Given the description of an element on the screen output the (x, y) to click on. 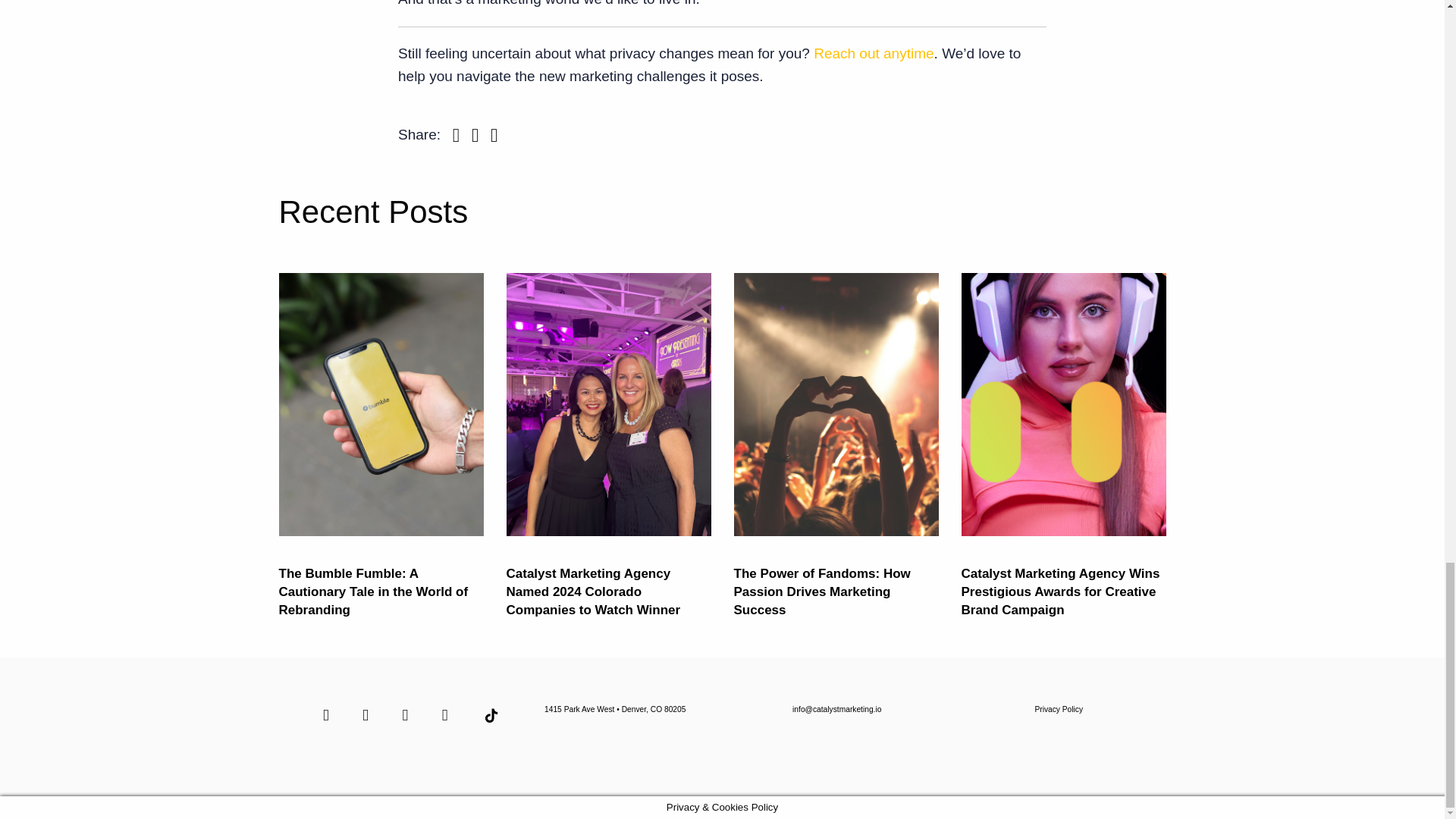
Reach out anytime (873, 53)
The Power of Fandoms: How Passion Drives Marketing Success (822, 591)
